Given the description of an element on the screen output the (x, y) to click on. 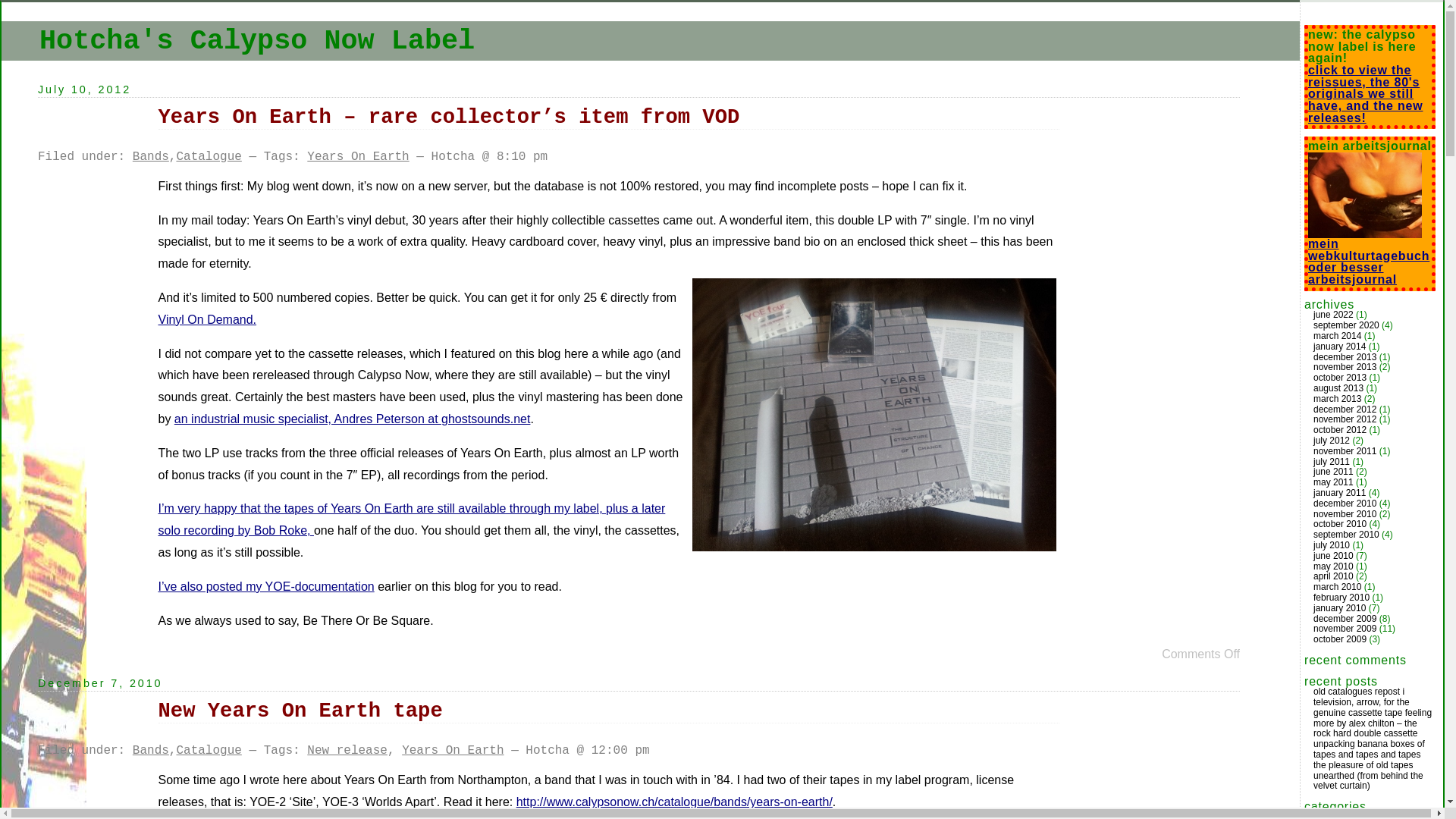
october 2013 Element type: text (1339, 377)
july 2012 Element type: text (1331, 440)
february 2010 Element type: text (1341, 597)
Vinyl On Demand. Element type: text (206, 319)
Catalogue Element type: text (208, 156)
december 2012 Element type: text (1344, 409)
mein webkulturtagebuch oder besser arbeitsjournal Element type: text (1368, 256)
june 2011 Element type: text (1333, 471)
december 2009 Element type: text (1344, 618)
Years On Earth Element type: text (357, 156)
june 2022 Element type: text (1333, 314)
Catalogue Element type: text (208, 750)
New release Element type: text (347, 750)
december 2010 Element type: text (1344, 503)
november 2010 Element type: text (1344, 513)
Years On Earth Element type: text (452, 750)
july 2010 Element type: text (1331, 544)
september 2020 Element type: text (1346, 325)
may 2010 Element type: text (1333, 566)
november 2013 Element type: text (1344, 366)
december 2013 Element type: text (1344, 356)
october 2012 Element type: text (1339, 429)
Bands Element type: text (150, 156)
november 2011 Element type: text (1344, 450)
unpacking banana boxes of tapes and tapes and tapes Element type: text (1368, 748)
old catalogues repost i Element type: text (1358, 691)
http://www.calypsonow.ch/catalogue/bands/years-on-earth/ Element type: text (674, 801)
Hotcha's Calypso Now Label Element type: text (256, 40)
television, arrow, for the genuine cassette tape feeling Element type: text (1372, 707)
may 2011 Element type: text (1333, 481)
january 2014 Element type: text (1339, 346)
june 2010 Element type: text (1333, 555)
march 2010 Element type: text (1337, 586)
october 2010 Element type: text (1339, 523)
january 2010 Element type: text (1339, 607)
january 2011 Element type: text (1339, 492)
october 2009 Element type: text (1339, 638)
september 2010 Element type: text (1346, 534)
july 2011 Element type: text (1331, 461)
august 2013 Element type: text (1338, 387)
march 2014 Element type: text (1337, 335)
november 2012 Element type: text (1344, 419)
april 2010 Element type: text (1333, 576)
Bands Element type: text (150, 750)
march 2013 Element type: text (1337, 398)
november 2009 Element type: text (1344, 628)
New Years On Earth tape Element type: text (299, 710)
